Given the description of an element on the screen output the (x, y) to click on. 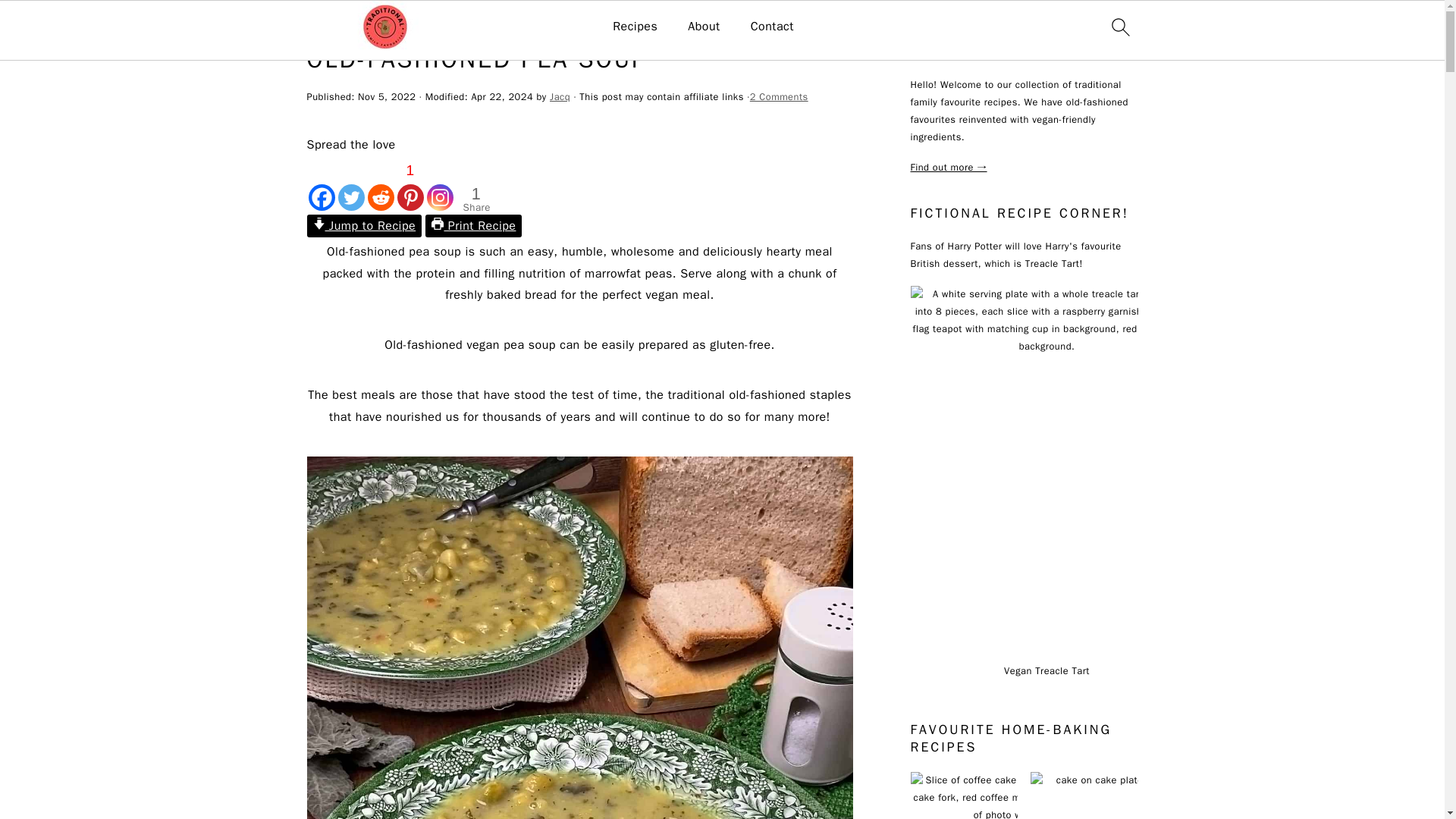
Contact (772, 26)
Total Shares (476, 198)
Jacq (560, 96)
Print Recipe (473, 225)
2 Comments (778, 96)
Soup (393, 23)
Lunch (357, 23)
Jump to Recipe (363, 225)
About (703, 26)
Home (319, 23)
Recipes (635, 26)
search icon (1119, 26)
